Given the description of an element on the screen output the (x, y) to click on. 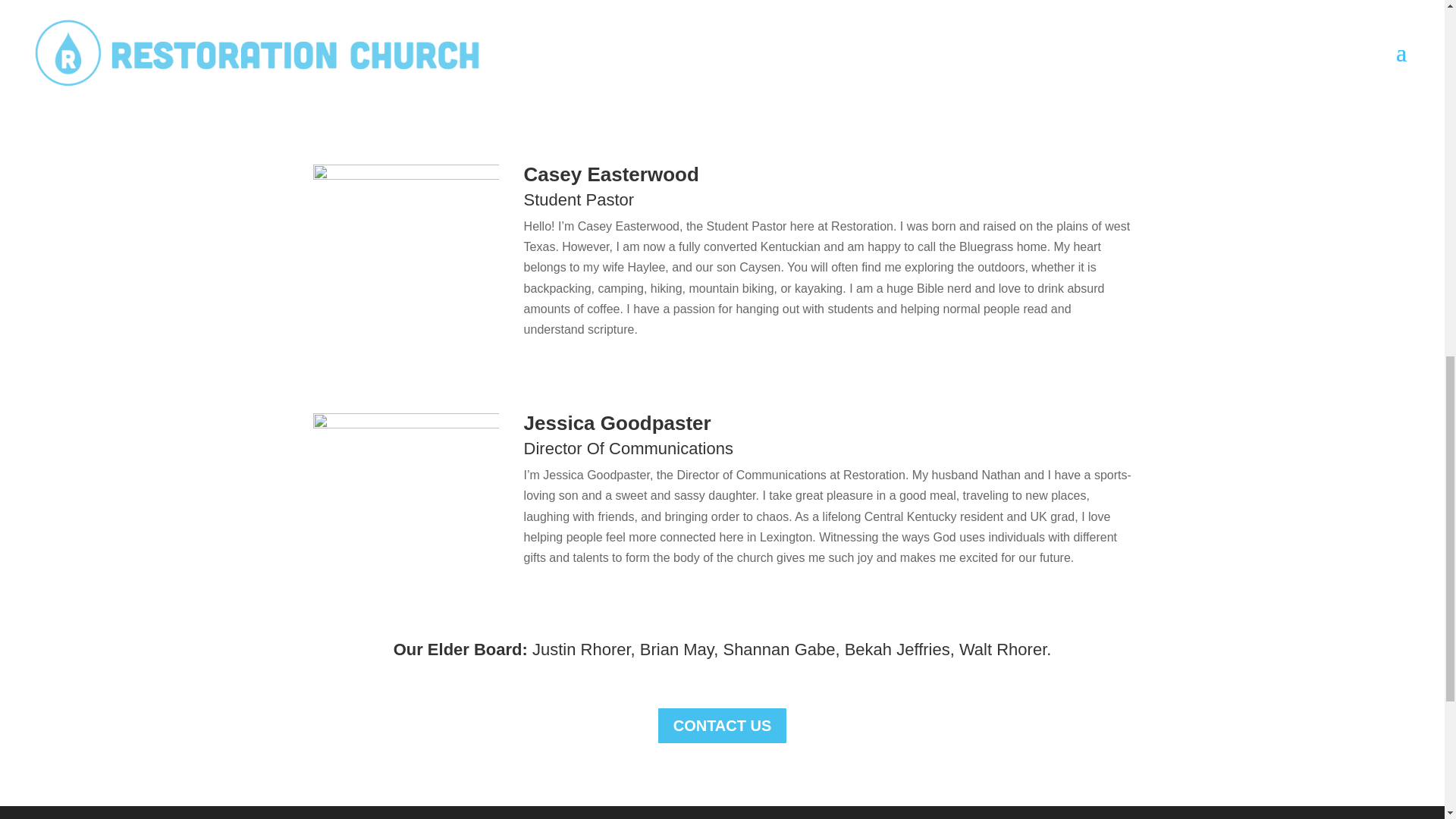
casey (406, 257)
sheen (406, 61)
CONTACT US (722, 725)
